Given the description of an element on the screen output the (x, y) to click on. 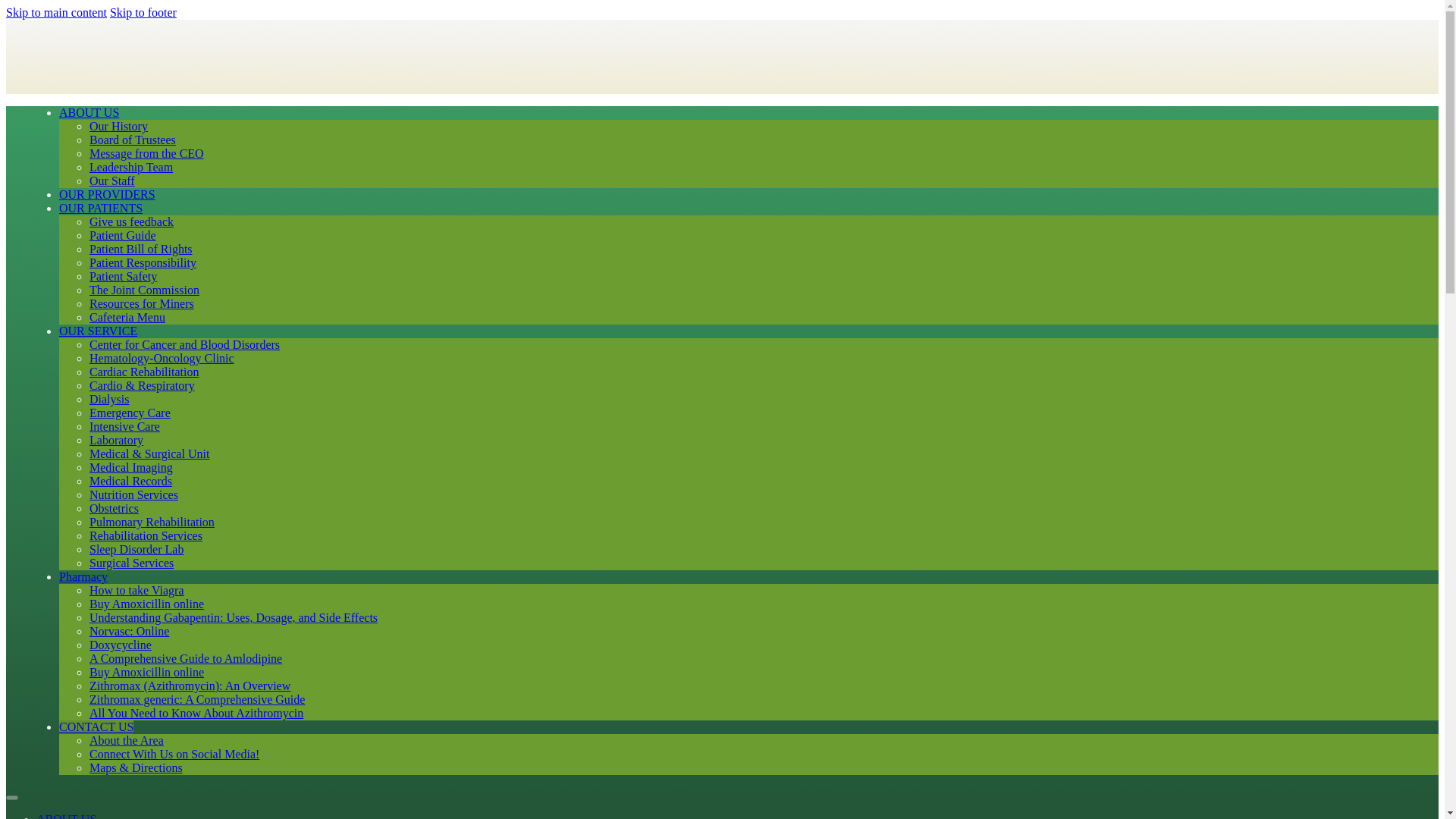
Our History (118, 125)
Give us feedback (130, 221)
OUR PROVIDERS (107, 194)
Center for Cancer and Blood Disorders (183, 344)
OUR PATIENTS (100, 207)
Patient Bill of Rights (140, 248)
Nutrition Services (132, 494)
Message from the CEO (145, 153)
Patient Responsibility (142, 262)
Patient Guide (121, 235)
Rehabilitation Services (145, 535)
Buy Amoxicillin online (145, 603)
Medical Imaging (130, 467)
Emergency Care (129, 412)
Pharmacy (83, 576)
